Given the description of an element on the screen output the (x, y) to click on. 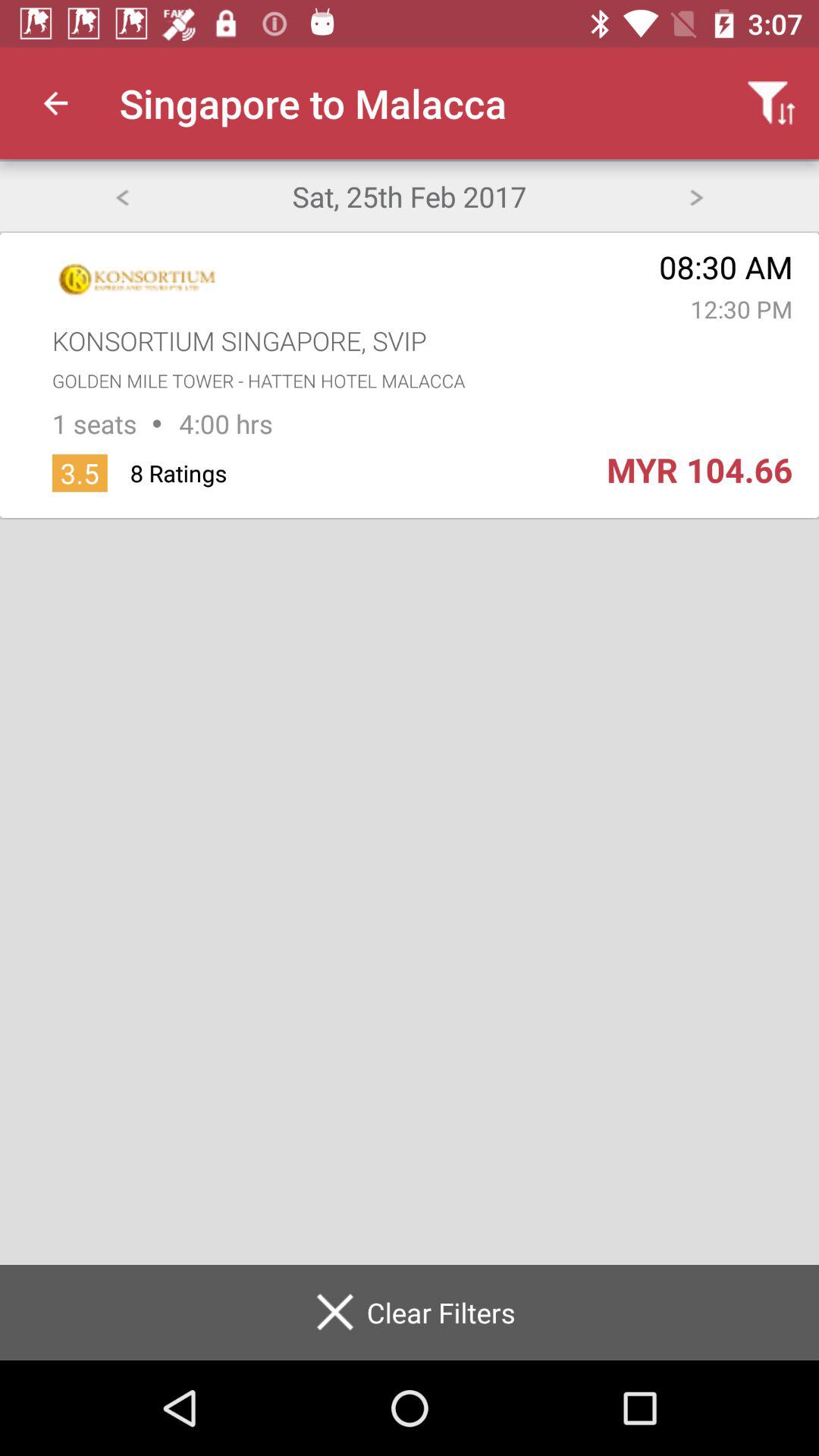
go to next (696, 196)
